Given the description of an element on the screen output the (x, y) to click on. 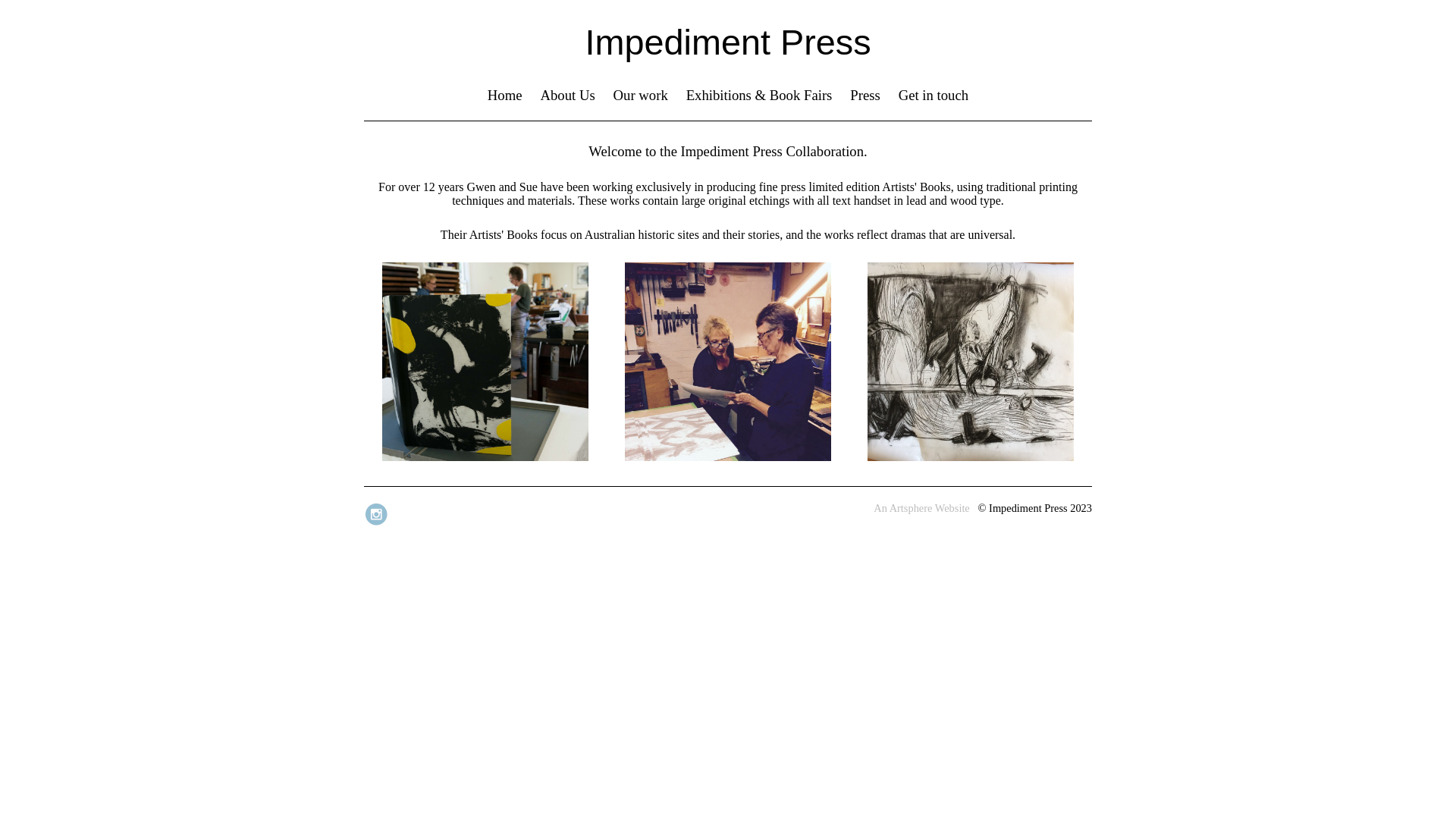
About Us Element type: text (566, 95)
Get in touch Element type: text (933, 95)
About Us Element type: hover (727, 457)
Press Element type: text (865, 95)
An Artsphere Website Element type: text (921, 508)
Instagram Element type: hover (377, 525)
Phantomwise Flew the Black Cockatoo Element type: hover (485, 457)
Home Element type: text (504, 95)
Our work Element type: text (640, 95)
Exhibitions & Book Fairs Element type: text (759, 95)
Our Work Element type: hover (970, 457)
